Given the description of an element on the screen output the (x, y) to click on. 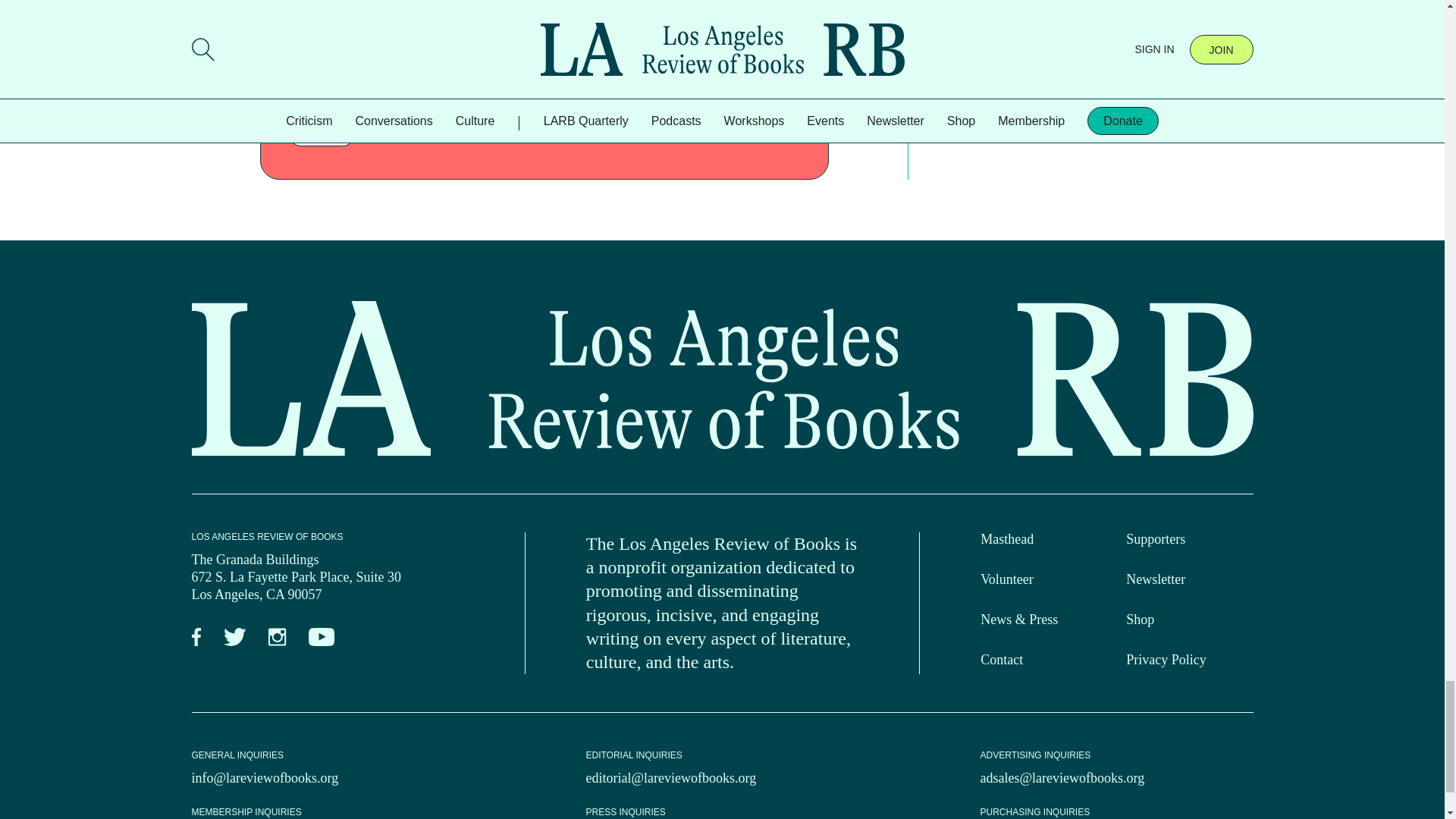
YouTube (321, 637)
